Given the description of an element on the screen output the (x, y) to click on. 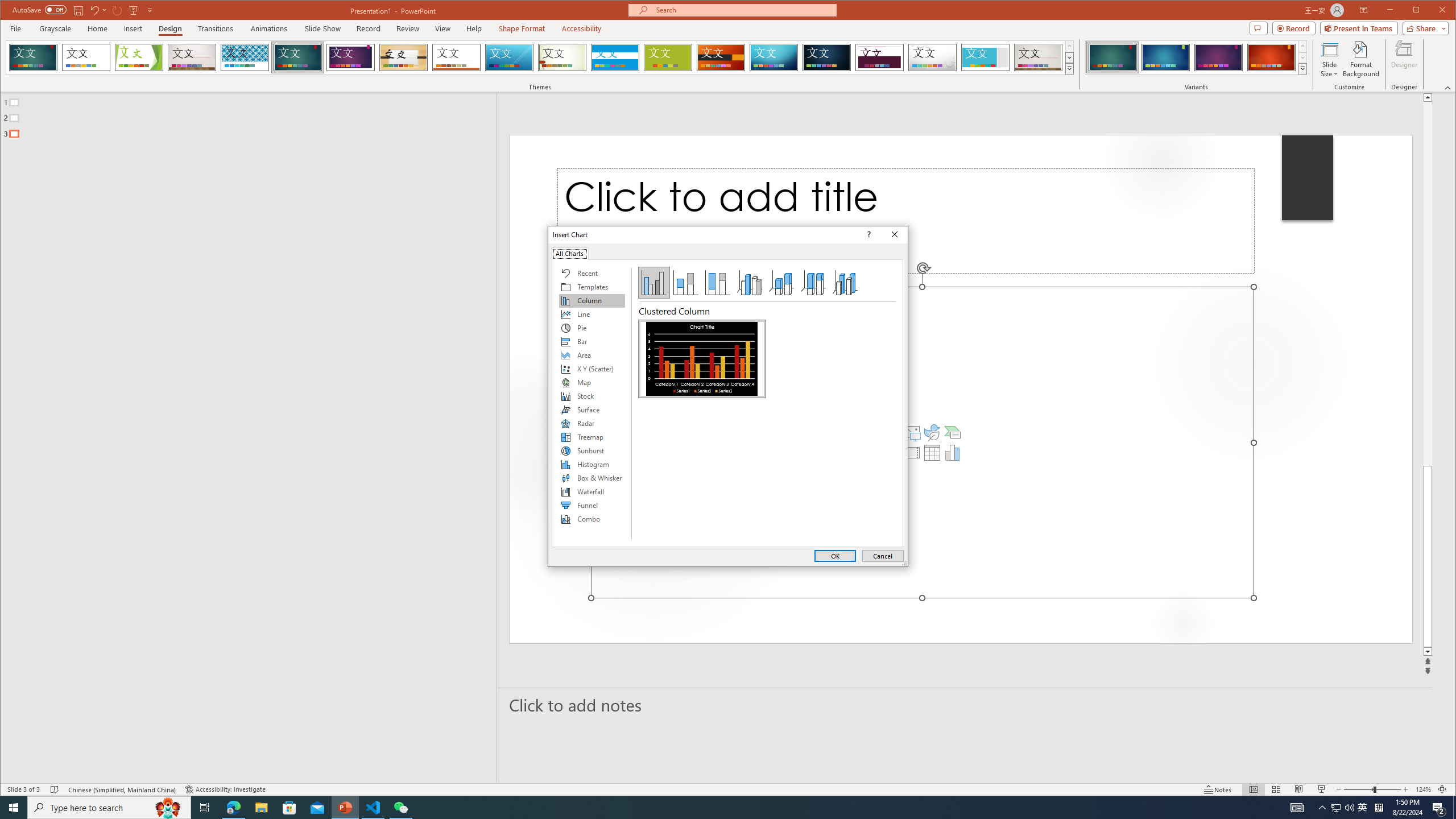
AutomationID: ThemeVariantsGallery (1196, 57)
Sunburst (591, 450)
Recent (591, 273)
Facet (138, 57)
Chart Types (591, 403)
3-D Column (844, 282)
Pie (591, 327)
Gallery (1037, 57)
